Given the description of an element on the screen output the (x, y) to click on. 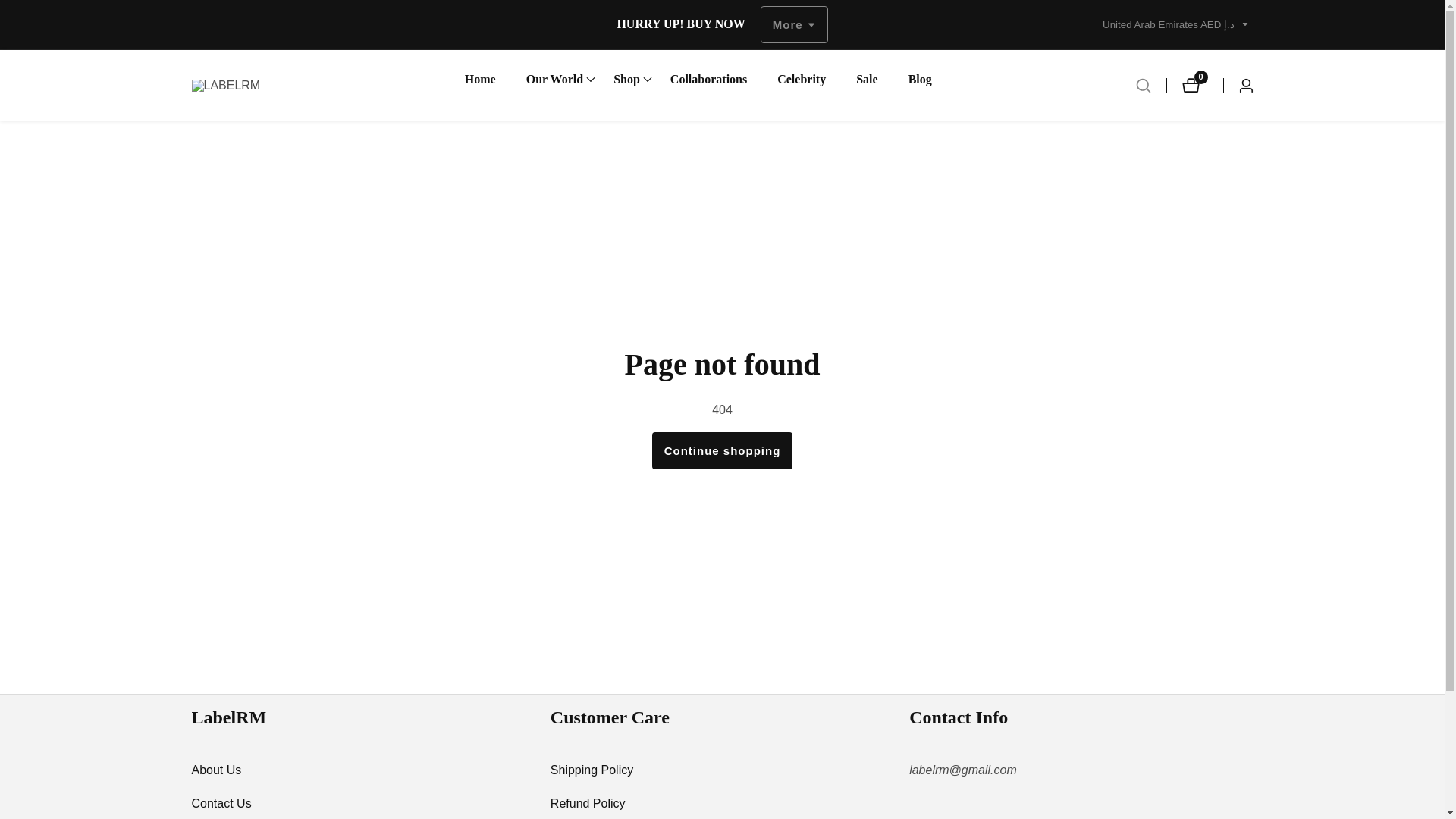
Collaborations (707, 78)
Caret Down (1243, 23)
Skip to content (11, 7)
Log in (1238, 84)
More (1194, 84)
